Given the description of an element on the screen output the (x, y) to click on. 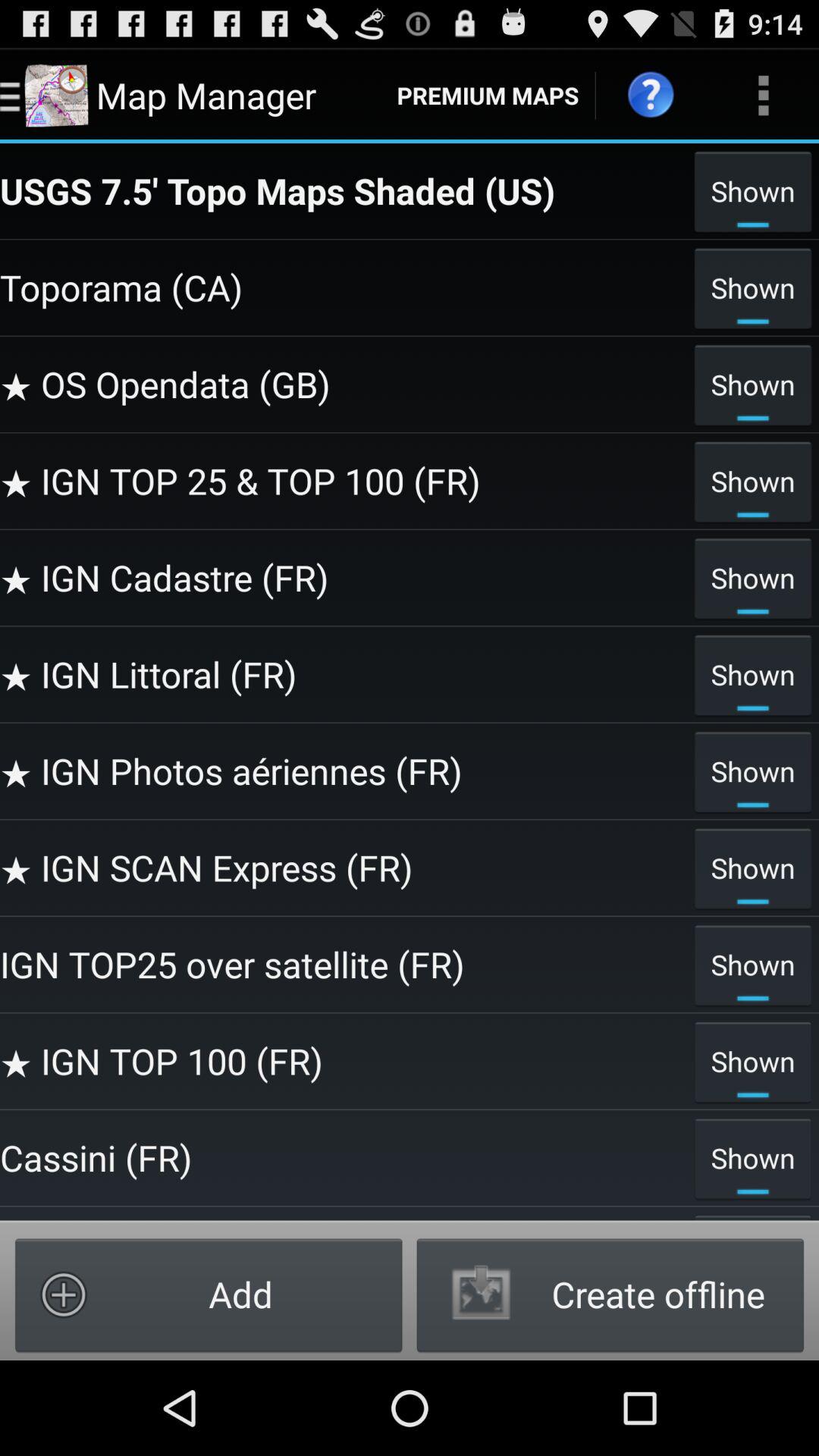
click the item above shown item (343, 867)
